Given the description of an element on the screen output the (x, y) to click on. 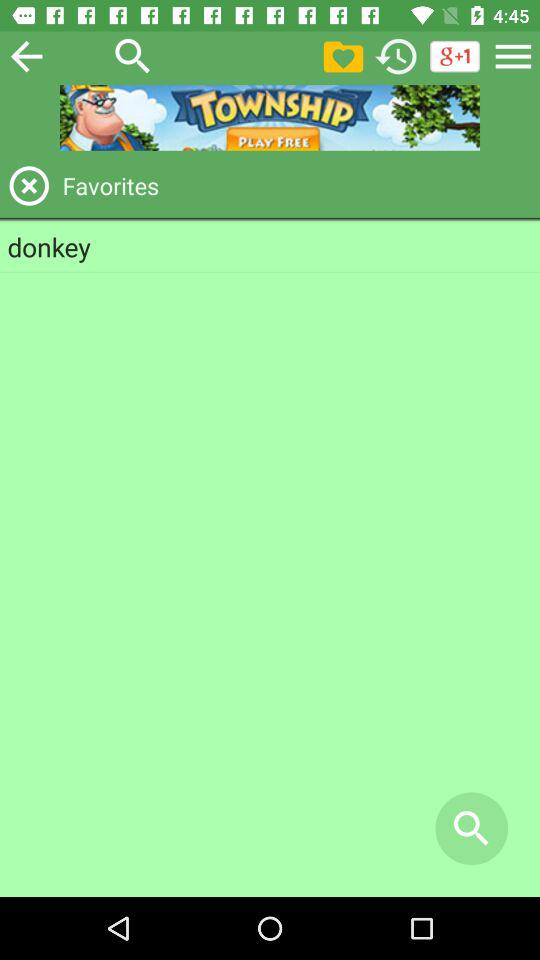
close favorites (29, 185)
